Given the description of an element on the screen output the (x, y) to click on. 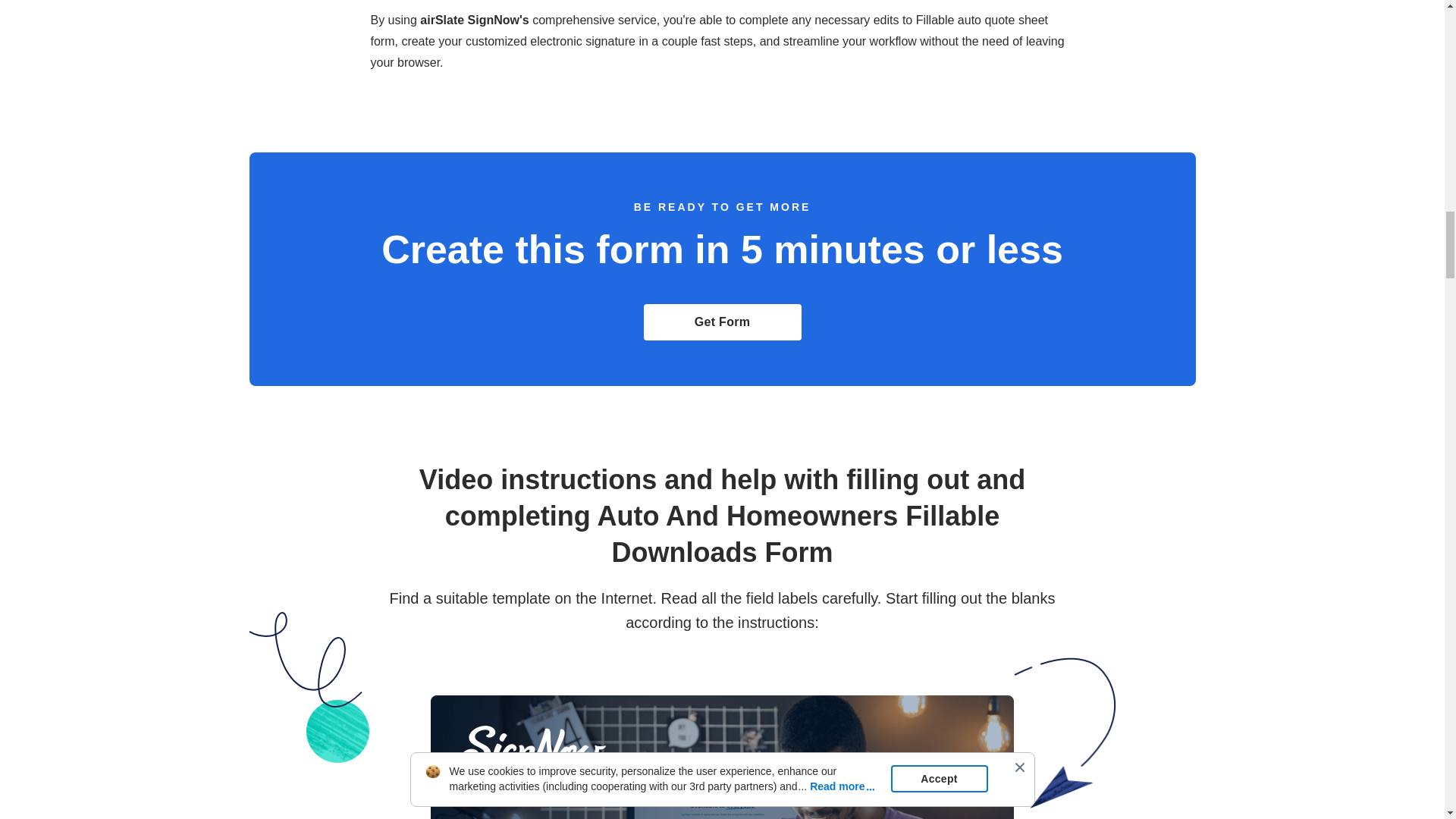
Get Form (721, 321)
